Given the description of an element on the screen output the (x, y) to click on. 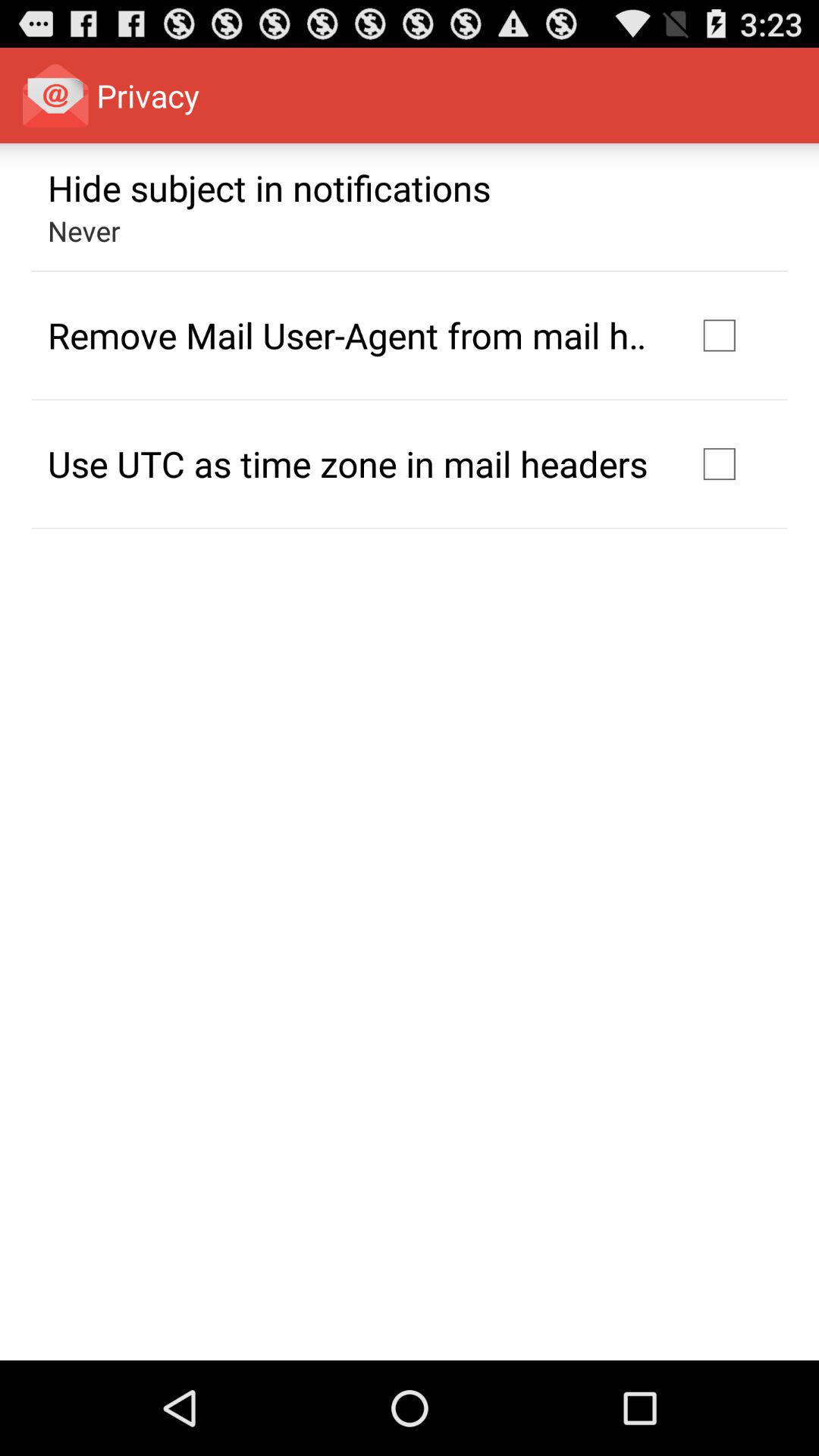
select never app (83, 230)
